Given the description of an element on the screen output the (x, y) to click on. 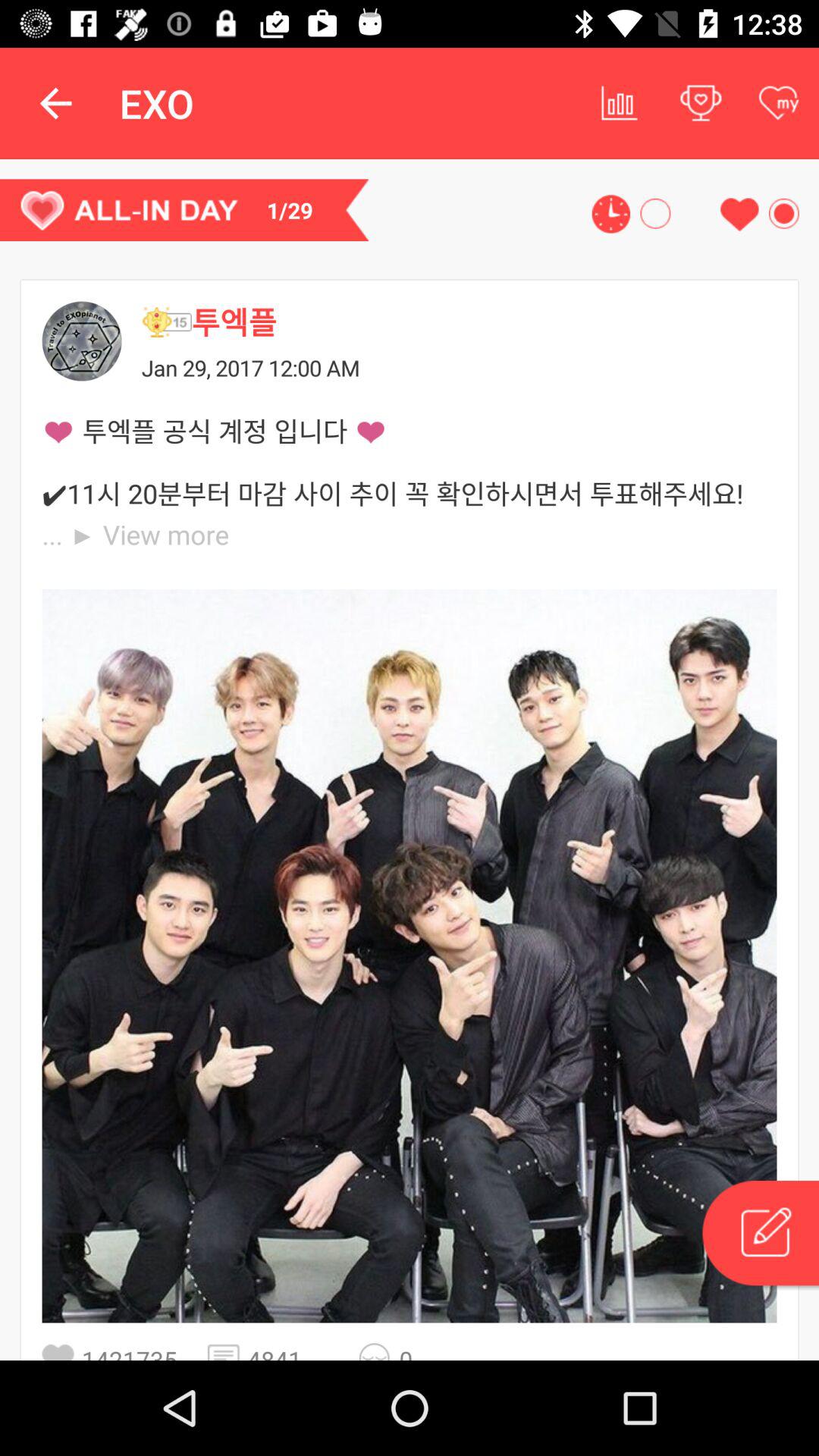
turn on the icon to the right of 1/29 item (610, 213)
